Given the description of an element on the screen output the (x, y) to click on. 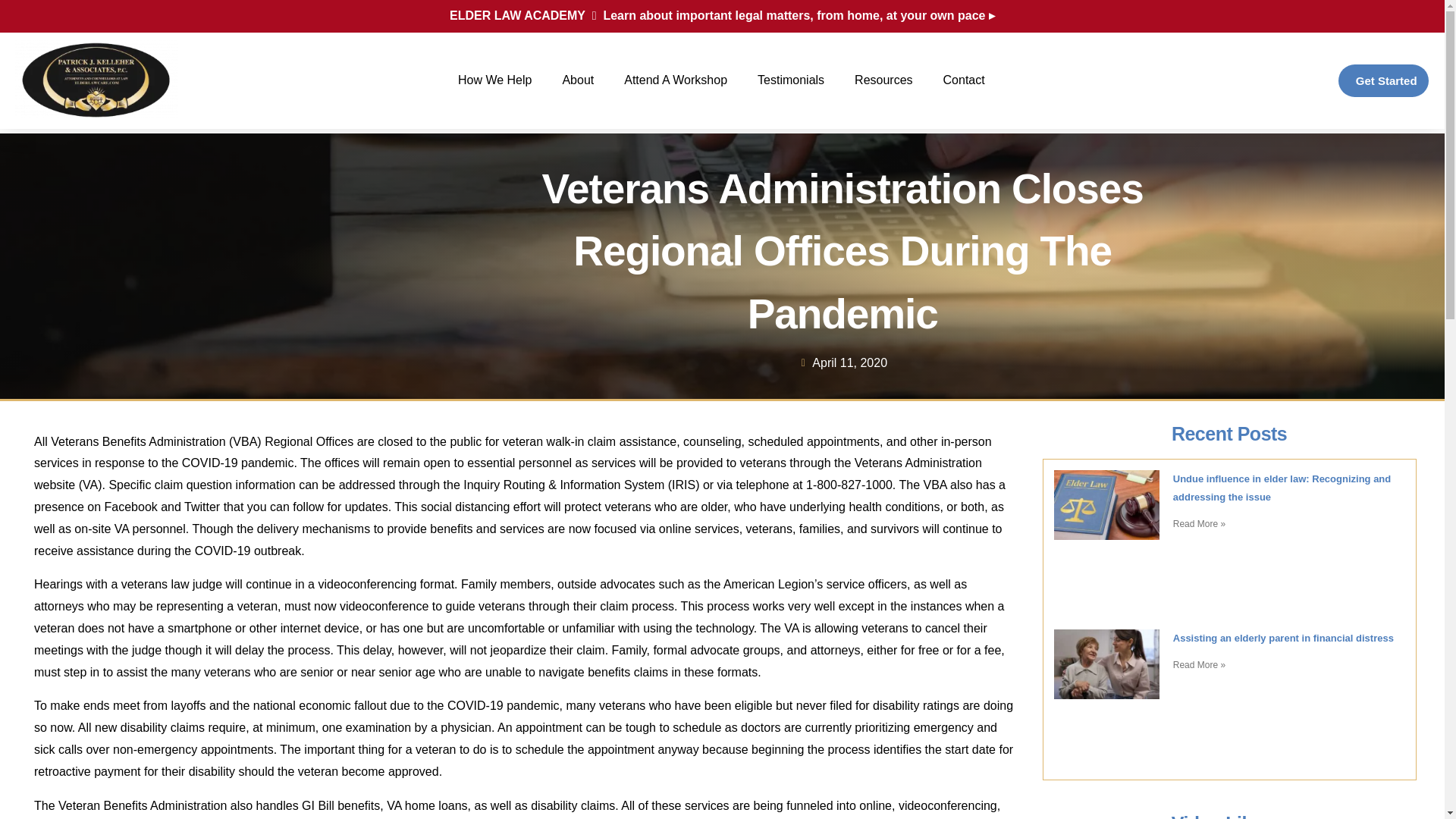
How We Help (494, 80)
Testimonials (791, 80)
Contact (964, 80)
Resources (883, 80)
About (577, 80)
Get Started (1383, 80)
Attend A Workshop (675, 80)
